Given the description of an element on the screen output the (x, y) to click on. 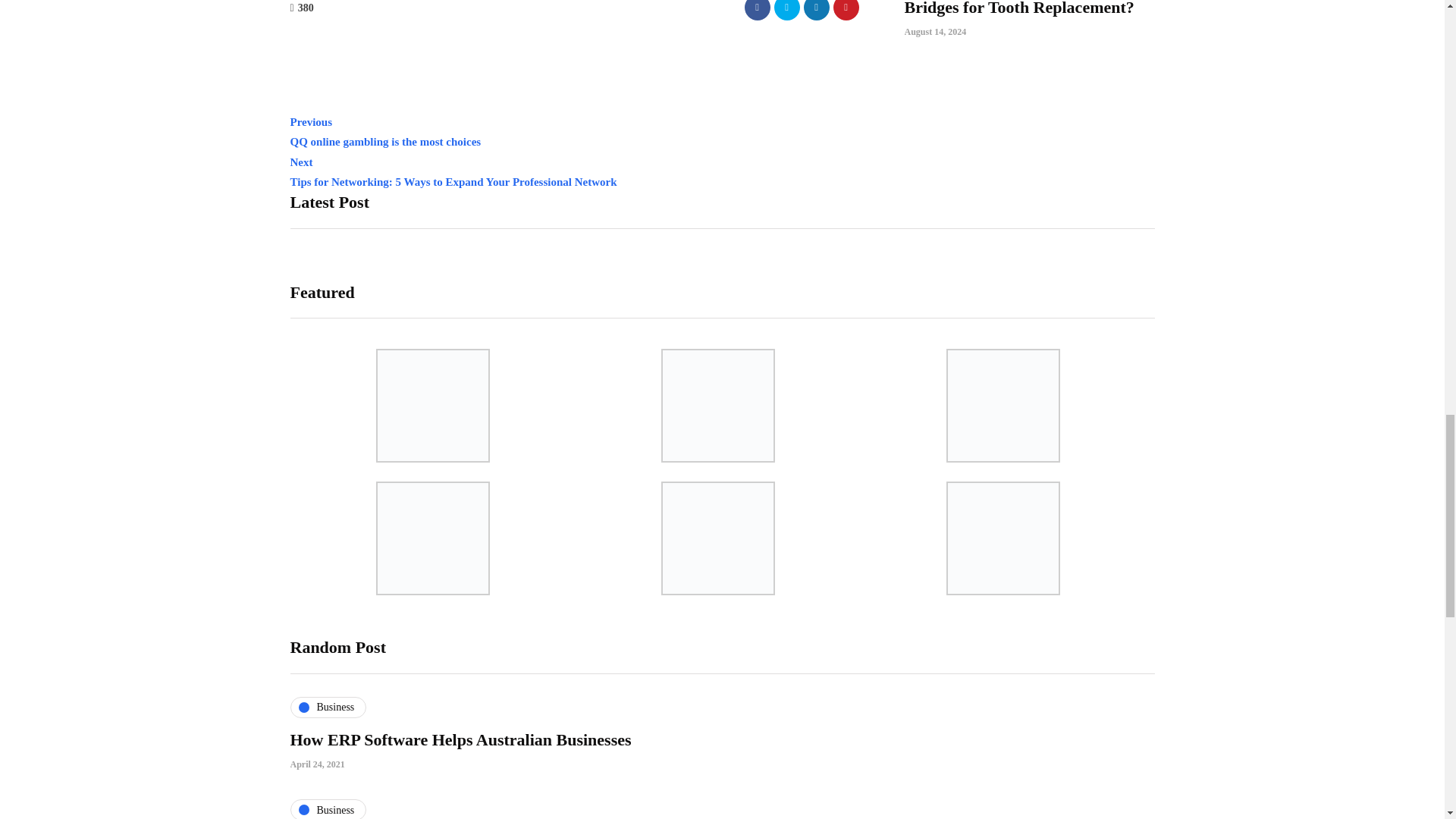
Tweet this (786, 9)
Why Choose Porcelain Fixed Bridges for Tooth Replacement? (1019, 8)
Pin this (845, 9)
Share with LinkedIn (816, 9)
Share with Facebook (574, 132)
